Given the description of an element on the screen output the (x, y) to click on. 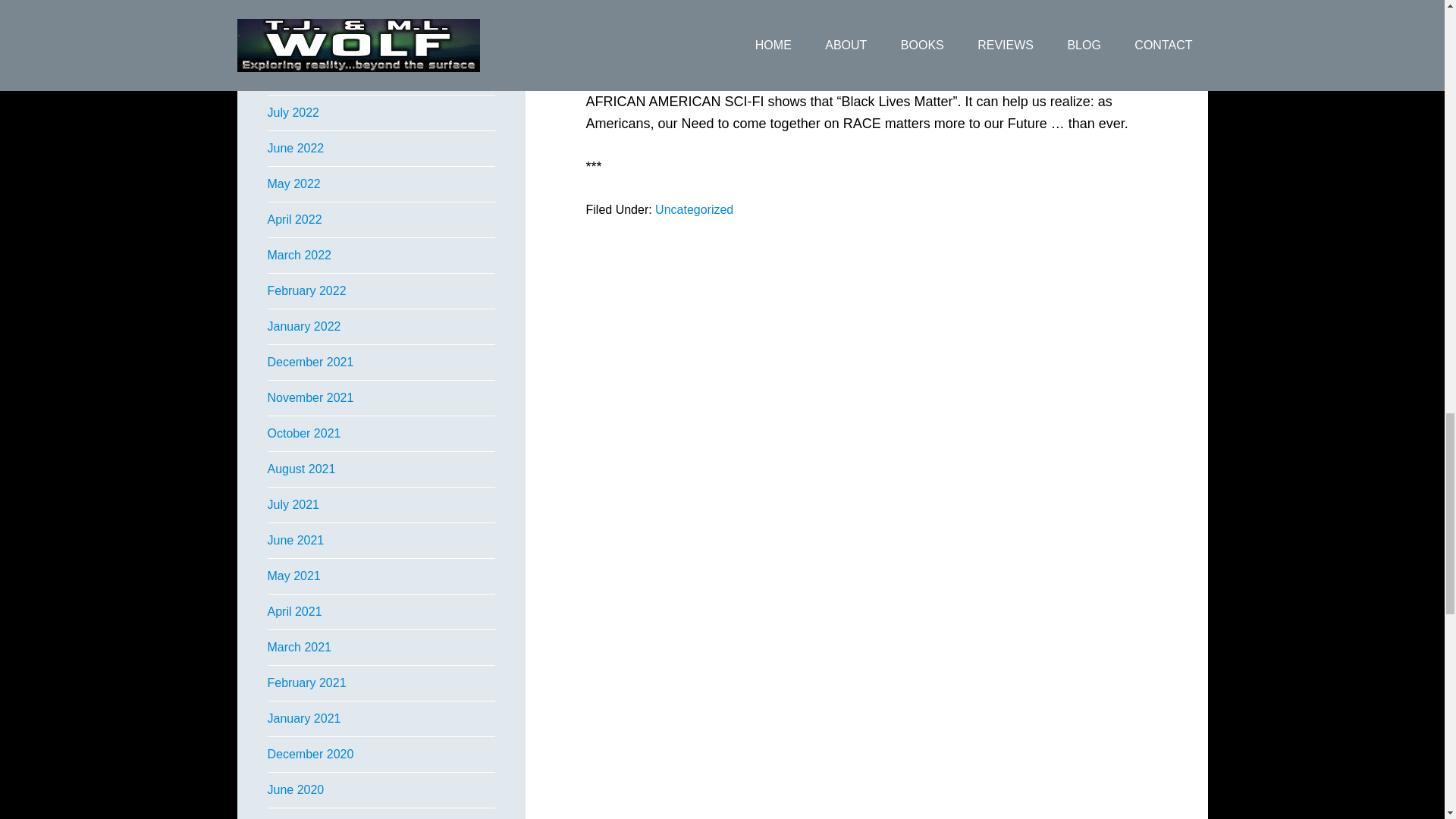
August 2022 (300, 76)
September 2022 (311, 41)
October 2022 (303, 6)
Uncategorized (694, 209)
July 2022 (292, 112)
